Given the description of an element on the screen output the (x, y) to click on. 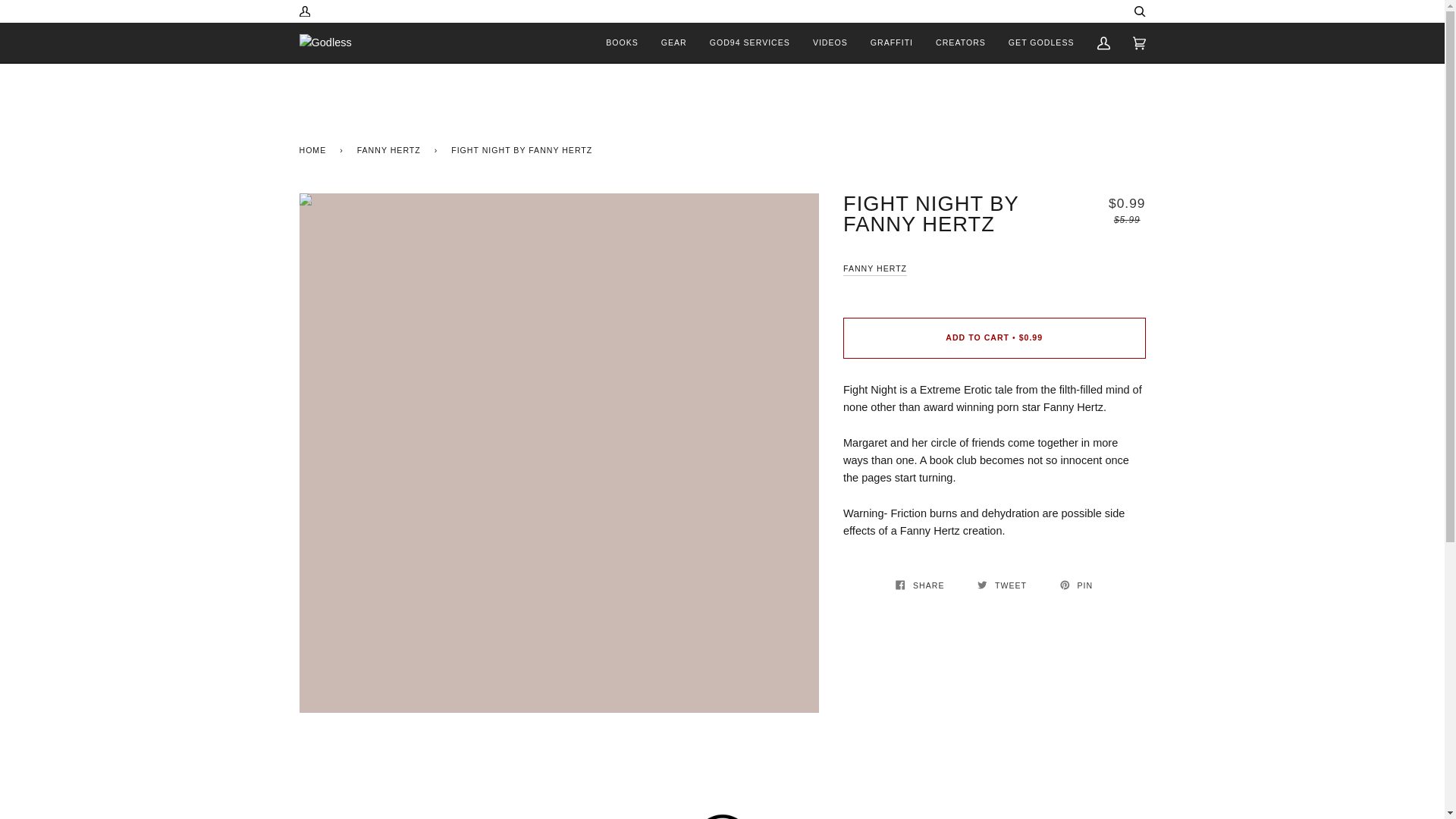
GEAR (673, 42)
Back to the frontpage (314, 149)
GOD94 SERVICES (750, 42)
BOOKS (621, 42)
